Given the description of an element on the screen output the (x, y) to click on. 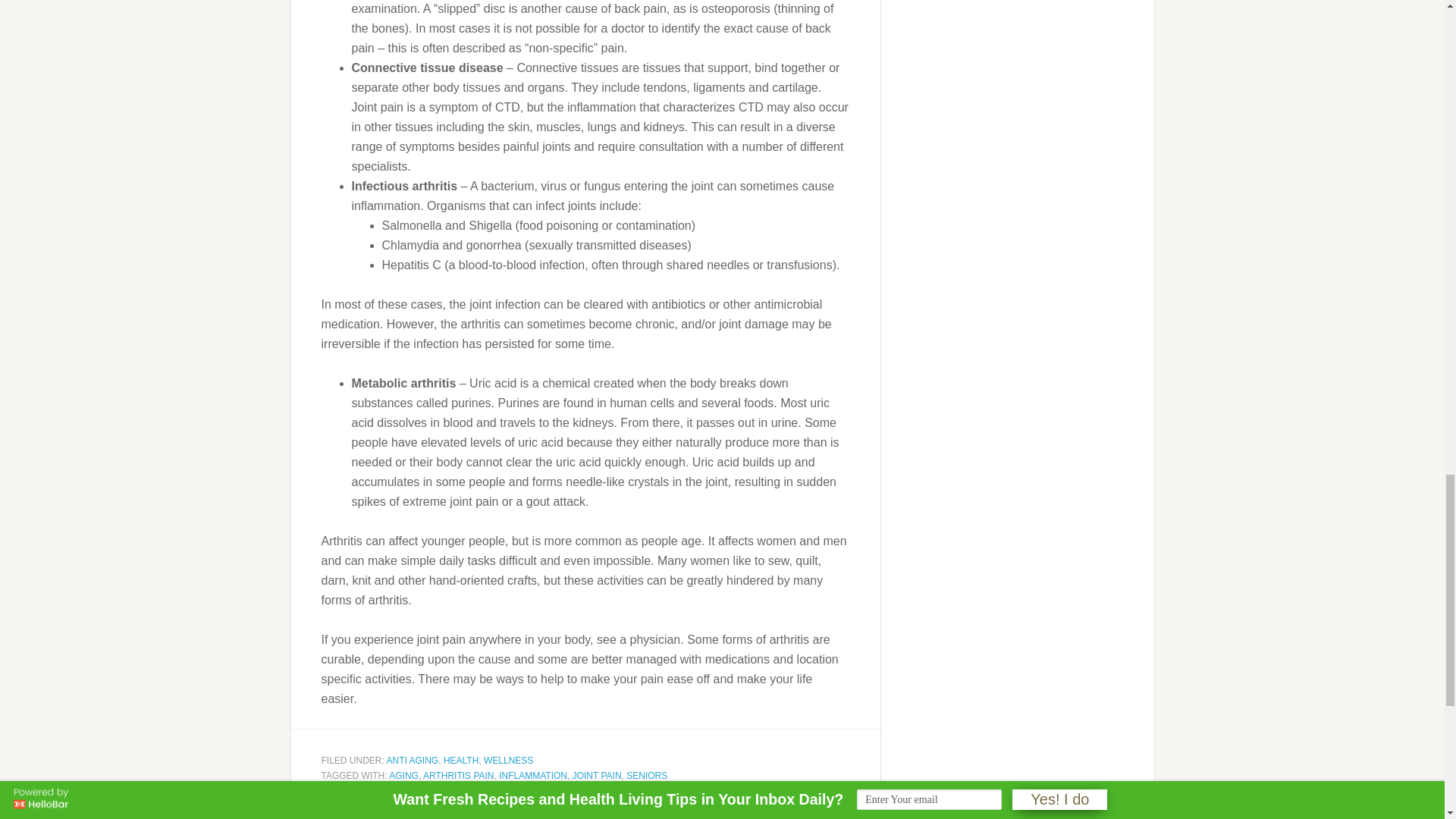
WELLNESS (507, 760)
ANTI AGING (413, 760)
JOINT PAIN (596, 775)
HEALTH (461, 760)
ARTHRITIS PAIN (459, 775)
INFLAMMATION (533, 775)
AGING (403, 775)
SENIORS (646, 775)
